Given the description of an element on the screen output the (x, y) to click on. 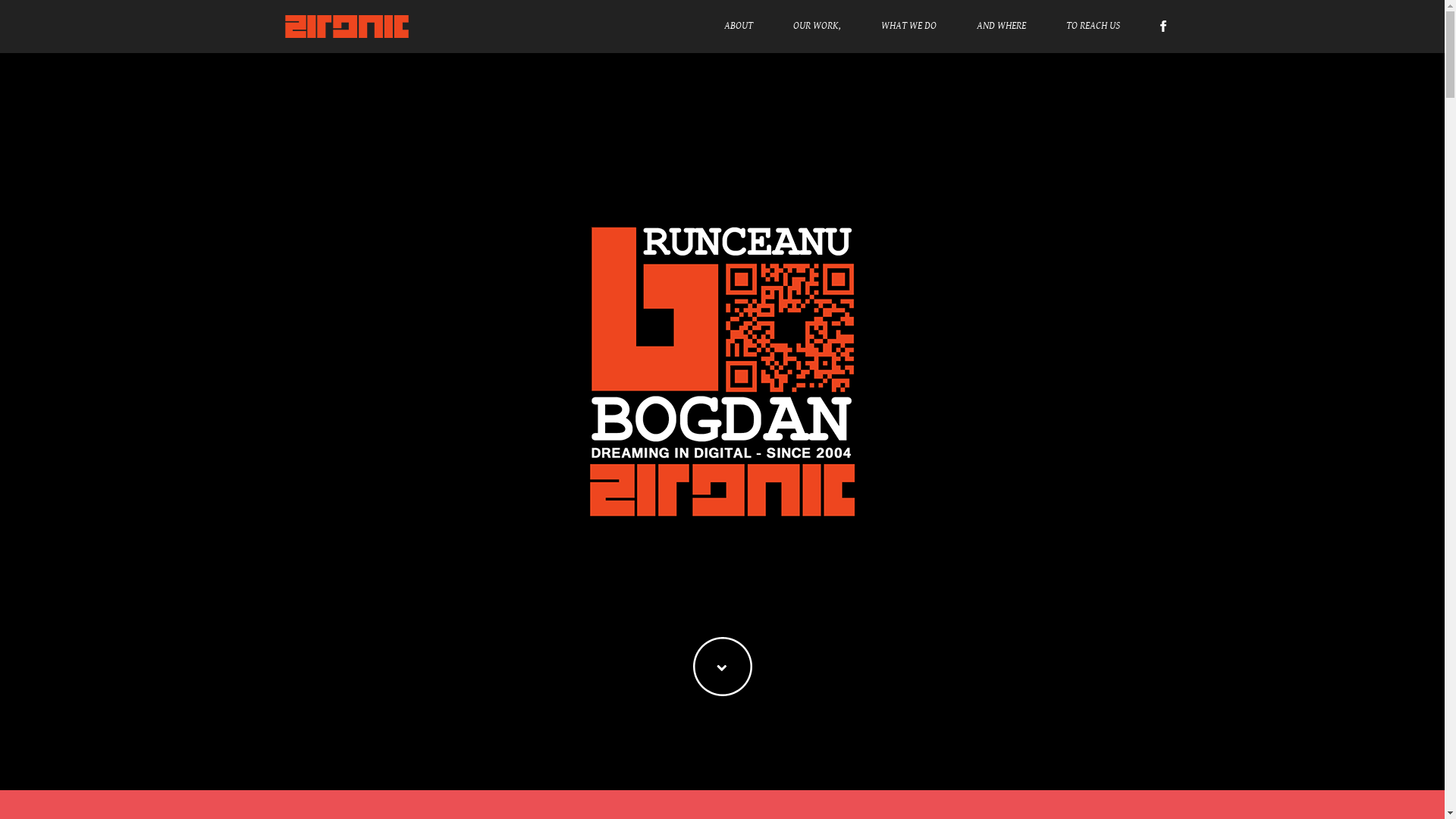
AND WHERE Element type: text (1001, 25)
Bogdan (Bo) Runceanu Element type: text (721, 371)
down Element type: text (722, 666)
ABOUT Element type: text (737, 25)
TO REACH US Element type: text (1093, 25)
OUR WORK, Element type: text (816, 25)
WHAT WE DO Element type: text (908, 25)
